Given the description of an element on the screen output the (x, y) to click on. 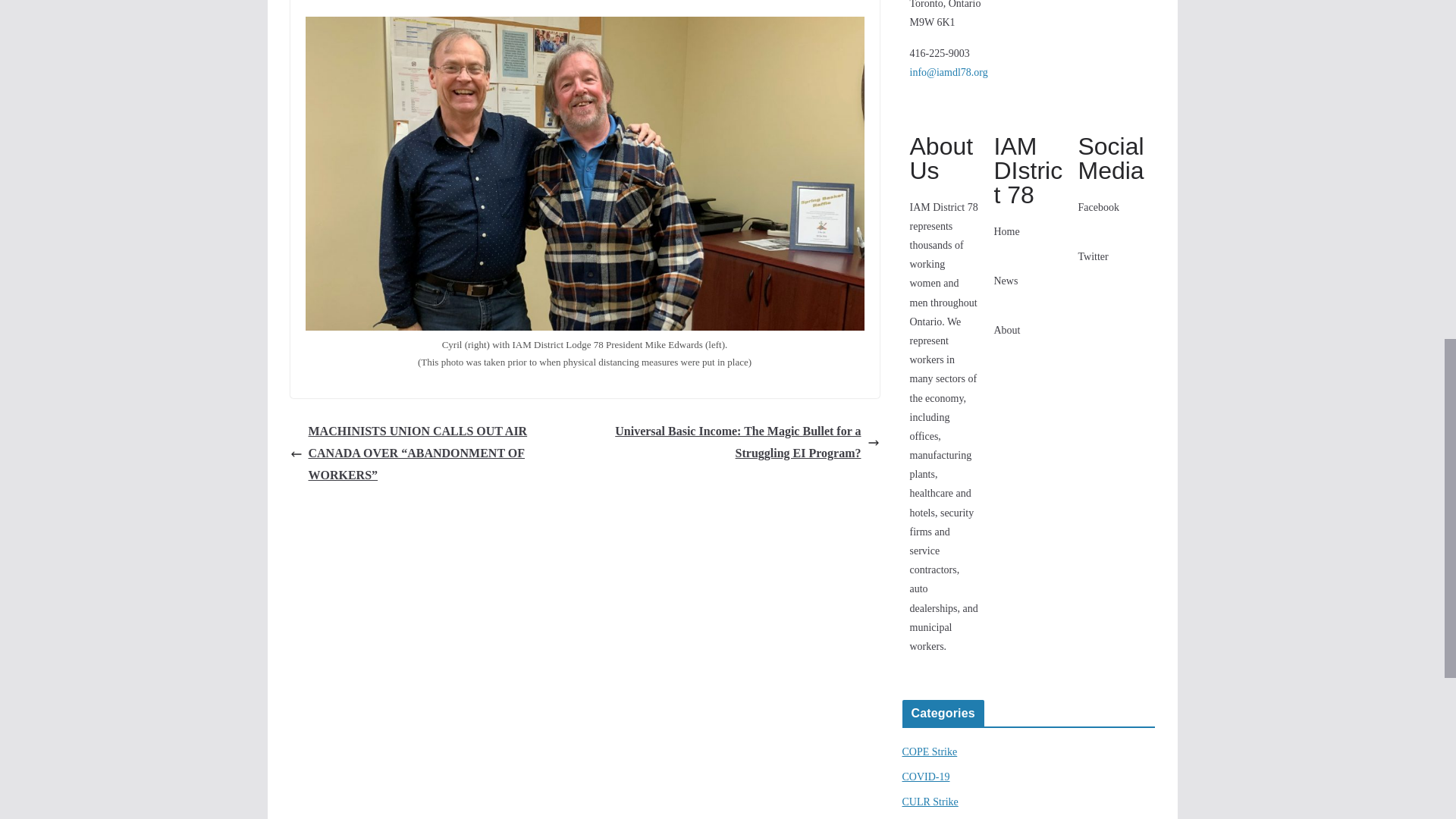
News (1004, 280)
COVID-19 (926, 776)
Facebook (1097, 206)
Home (1005, 231)
Twitter (1092, 256)
About (1006, 329)
COPE Strike (930, 751)
CULR Strike (930, 801)
